Given the description of an element on the screen output the (x, y) to click on. 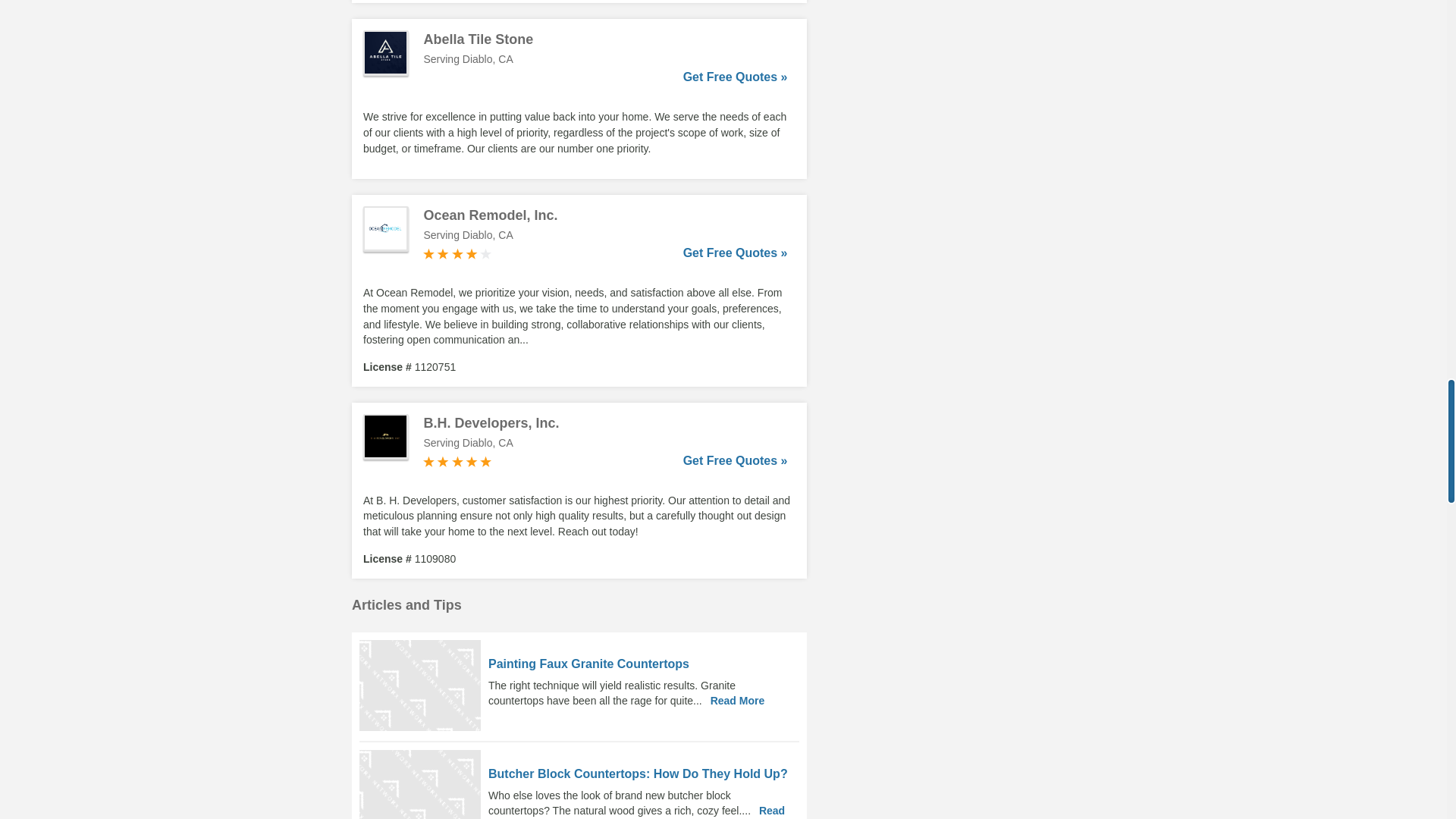
5 star rating (457, 461)
4 star rating (457, 254)
